Given the description of an element on the screen output the (x, y) to click on. 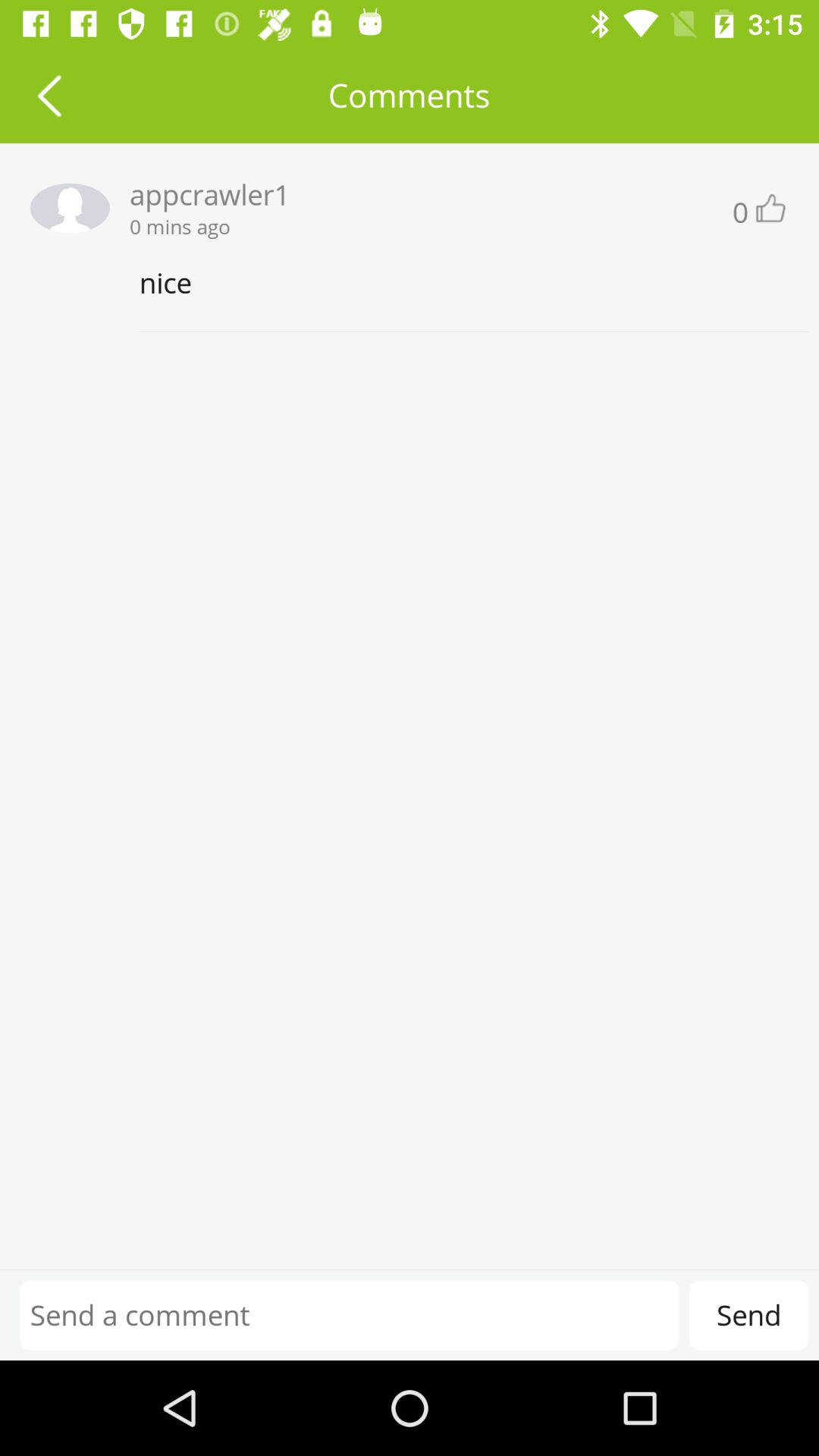
tap icon to the left of comments icon (48, 95)
